Given the description of an element on the screen output the (x, y) to click on. 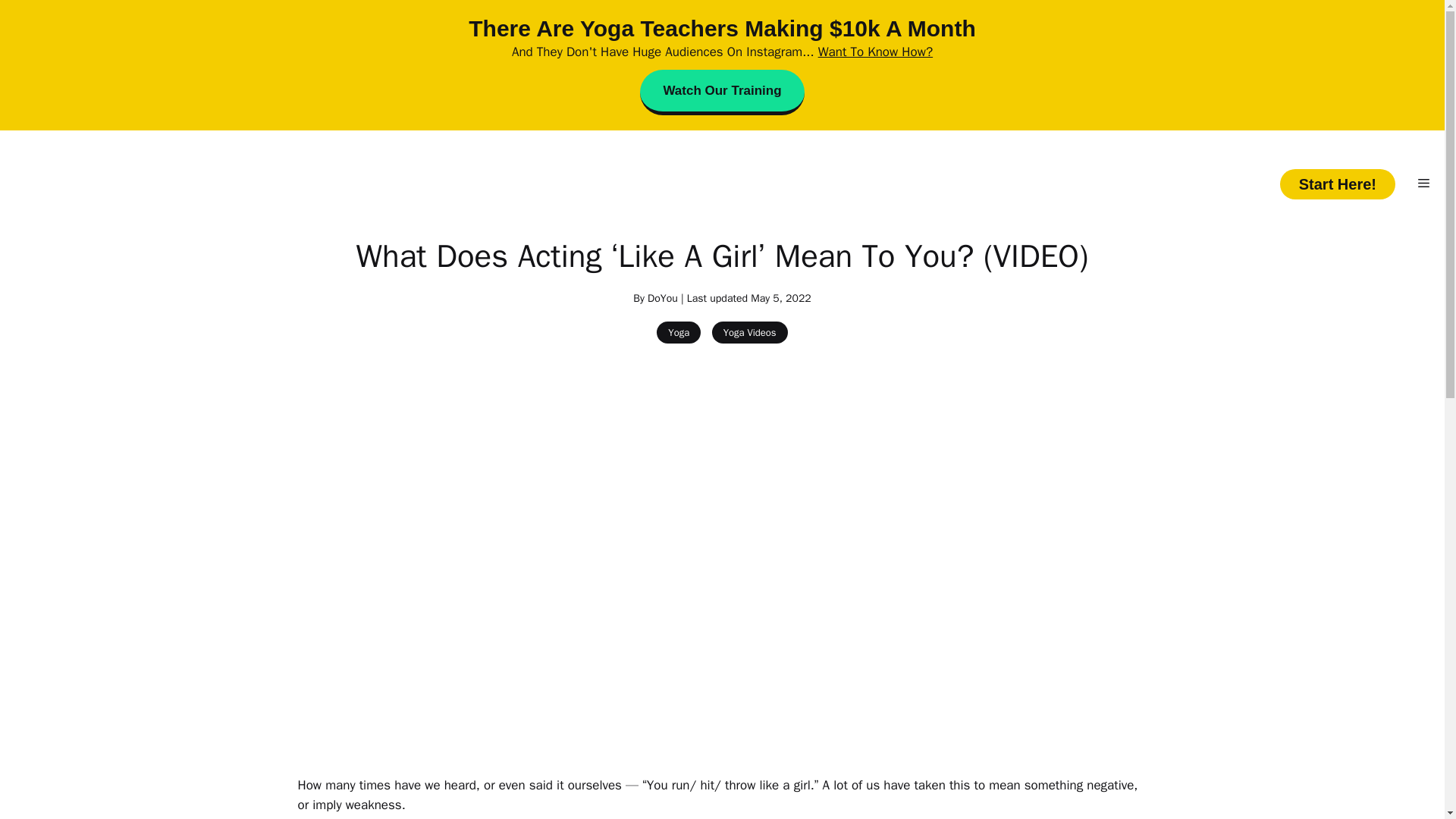
Posts by DoYou (662, 297)
Start Here! (1336, 183)
Yoga Videos (749, 332)
DoYou (662, 297)
DoYou (722, 183)
Watch Our Training (721, 92)
Yoga (678, 332)
